Given the description of an element on the screen output the (x, y) to click on. 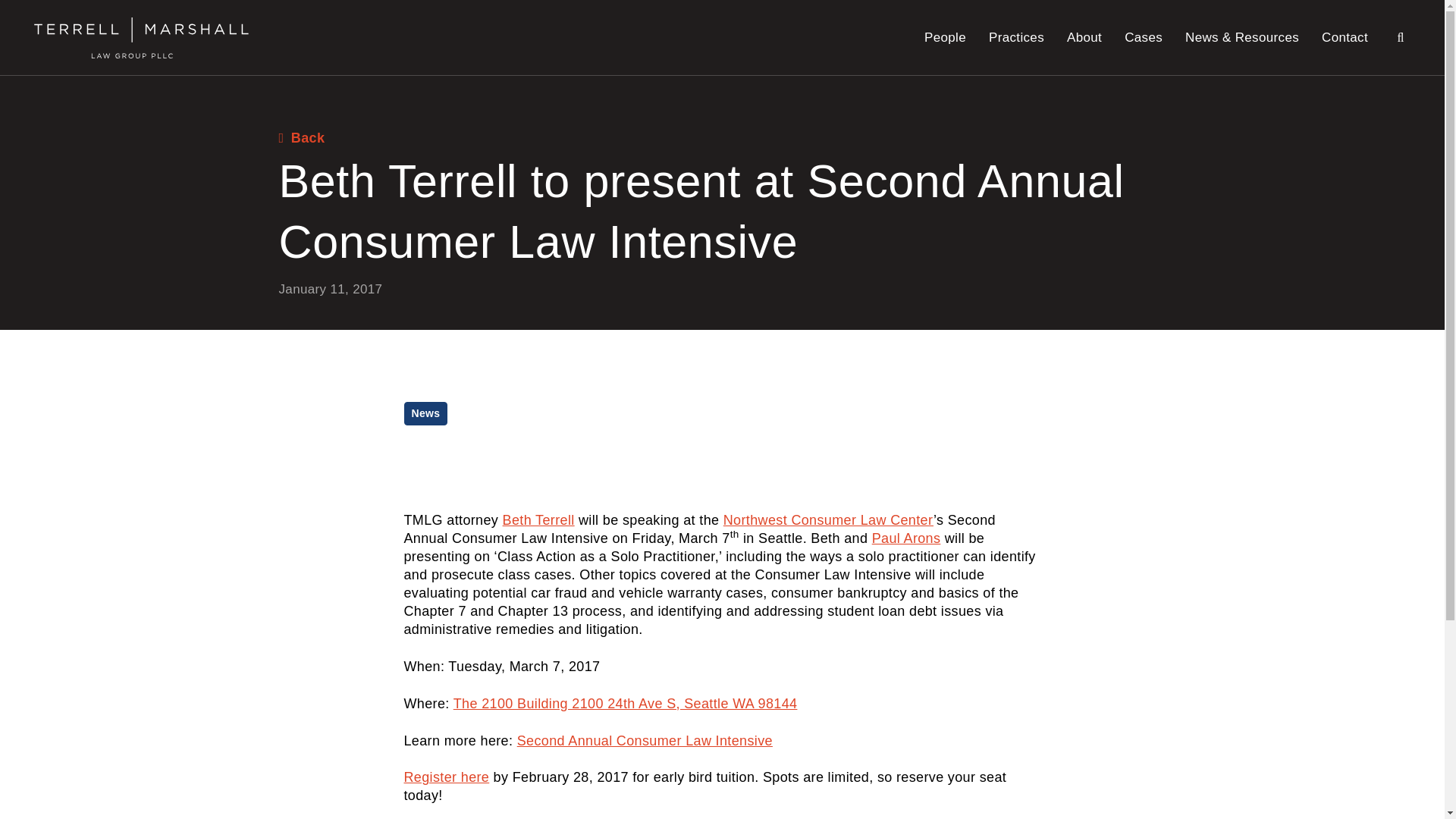
Back (301, 138)
Search (1400, 36)
News (424, 413)
Beth Terrell (538, 519)
